Given the description of an element on the screen output the (x, y) to click on. 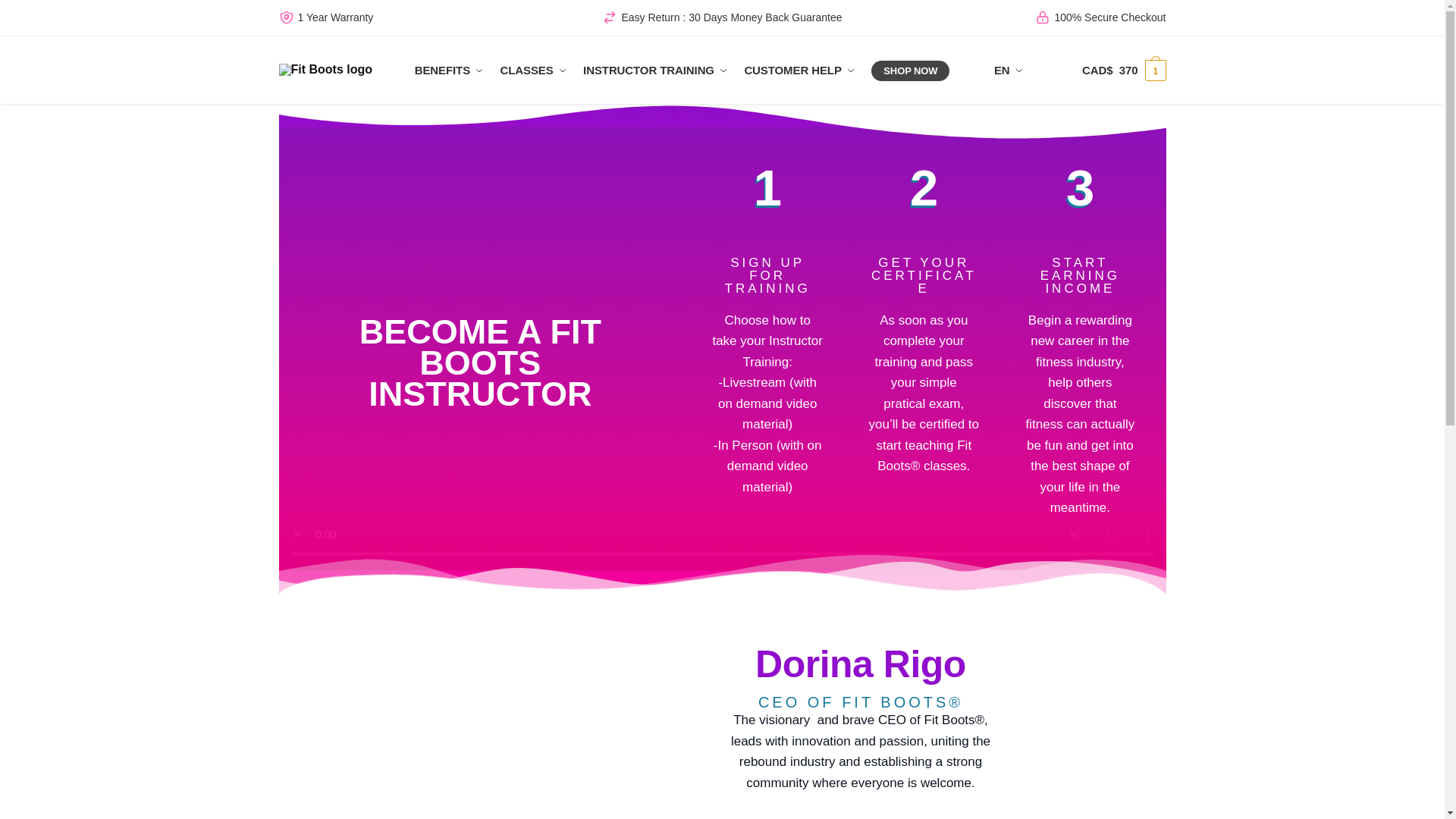
CUSTOMER HELP (799, 70)
EN (994, 70)
SHOP NOW (910, 58)
INSTRUCTOR TRAINING (654, 70)
Easy Return : 30 Days Money Back Guarantee (731, 17)
1 Year Warranty (334, 17)
CLASSES (533, 70)
View your shopping cart (1123, 70)
English (994, 70)
BENEFITS (452, 70)
